Given the description of an element on the screen output the (x, y) to click on. 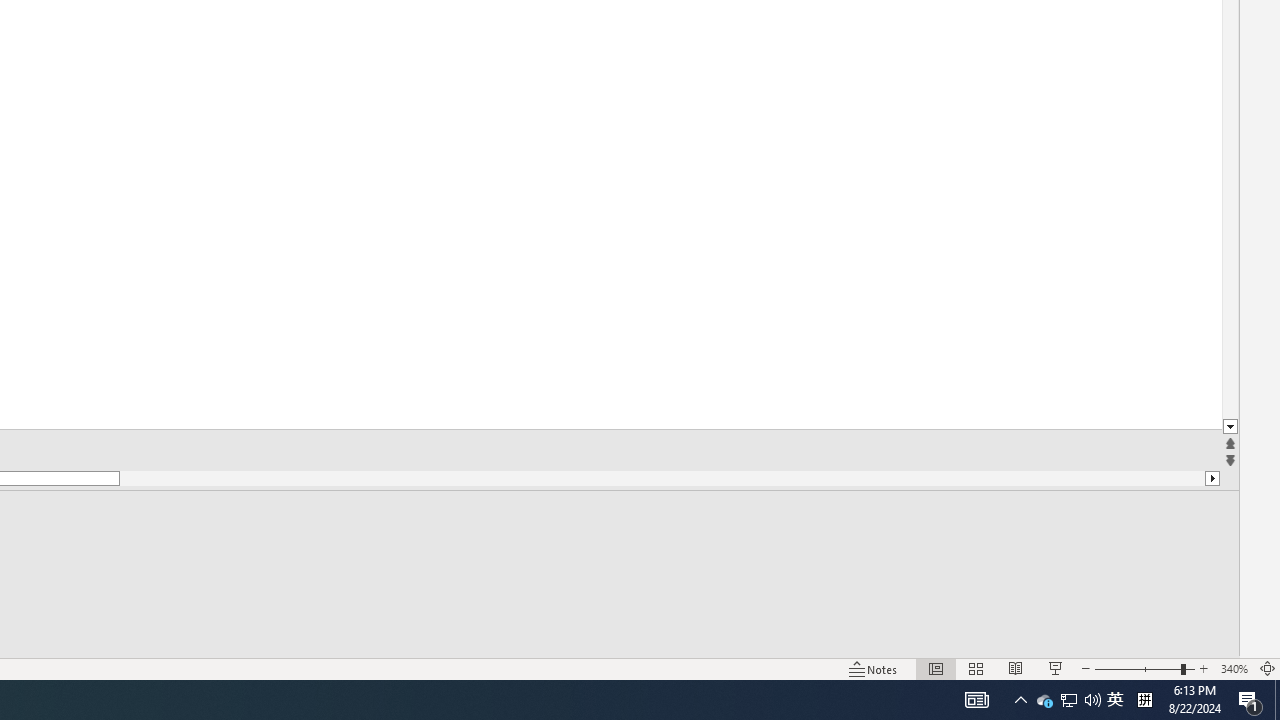
Zoom 340% (1234, 668)
